Given the description of an element on the screen output the (x, y) to click on. 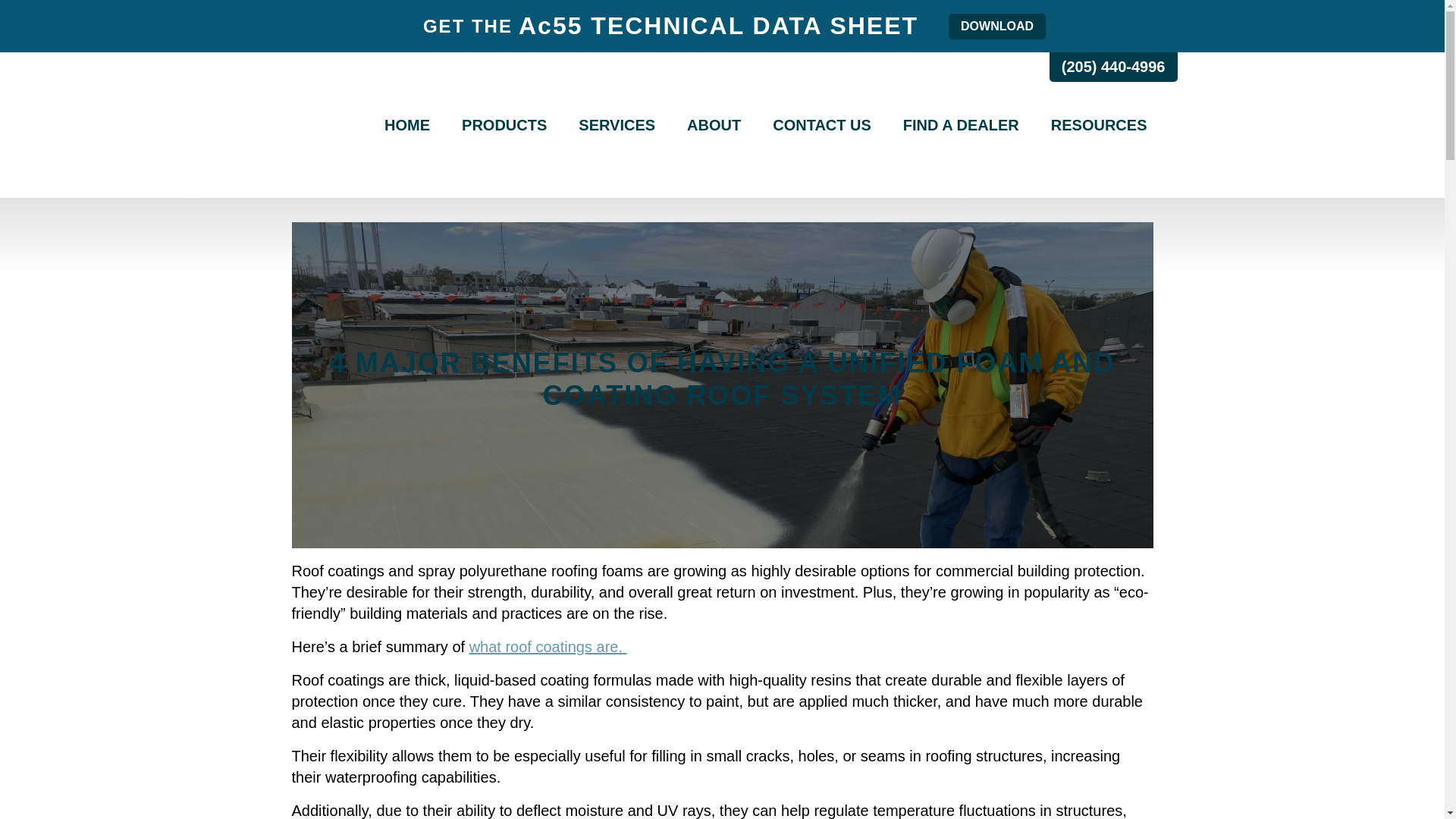
SERVICES (616, 124)
PRODUCTS (504, 124)
RESOURCES (1098, 124)
what roof coatings are.  (547, 646)
ABOUT (713, 124)
HOME (407, 124)
DOWNLOAD (997, 26)
CONTACT US (821, 124)
FIND A DEALER (960, 124)
